Given the description of an element on the screen output the (x, y) to click on. 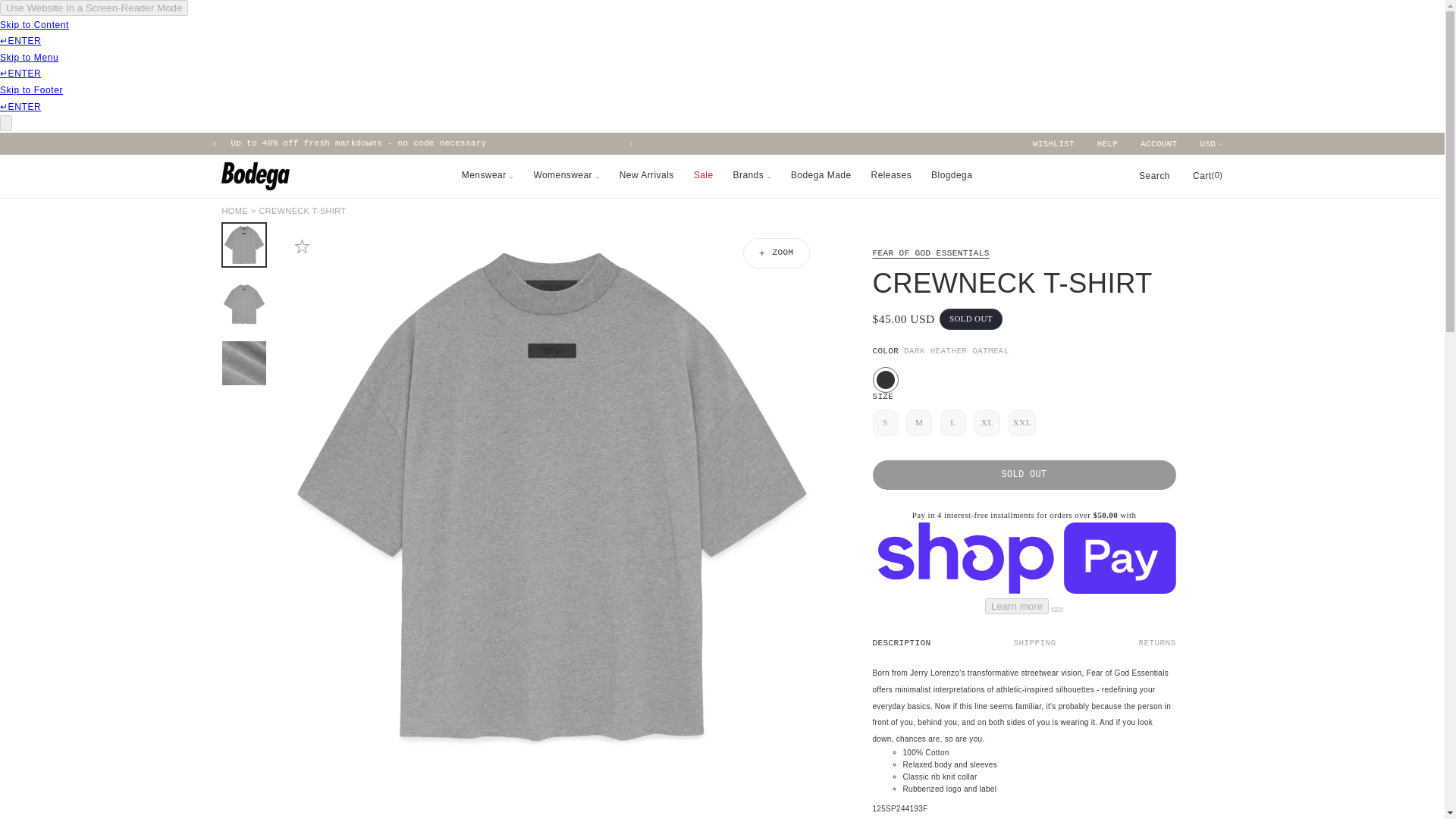
SKIP TO CONTENT (45, 13)
Sale (358, 143)
New Arrivals (822, 143)
WISHLIST (1053, 144)
Home (234, 210)
